Given the description of an element on the screen output the (x, y) to click on. 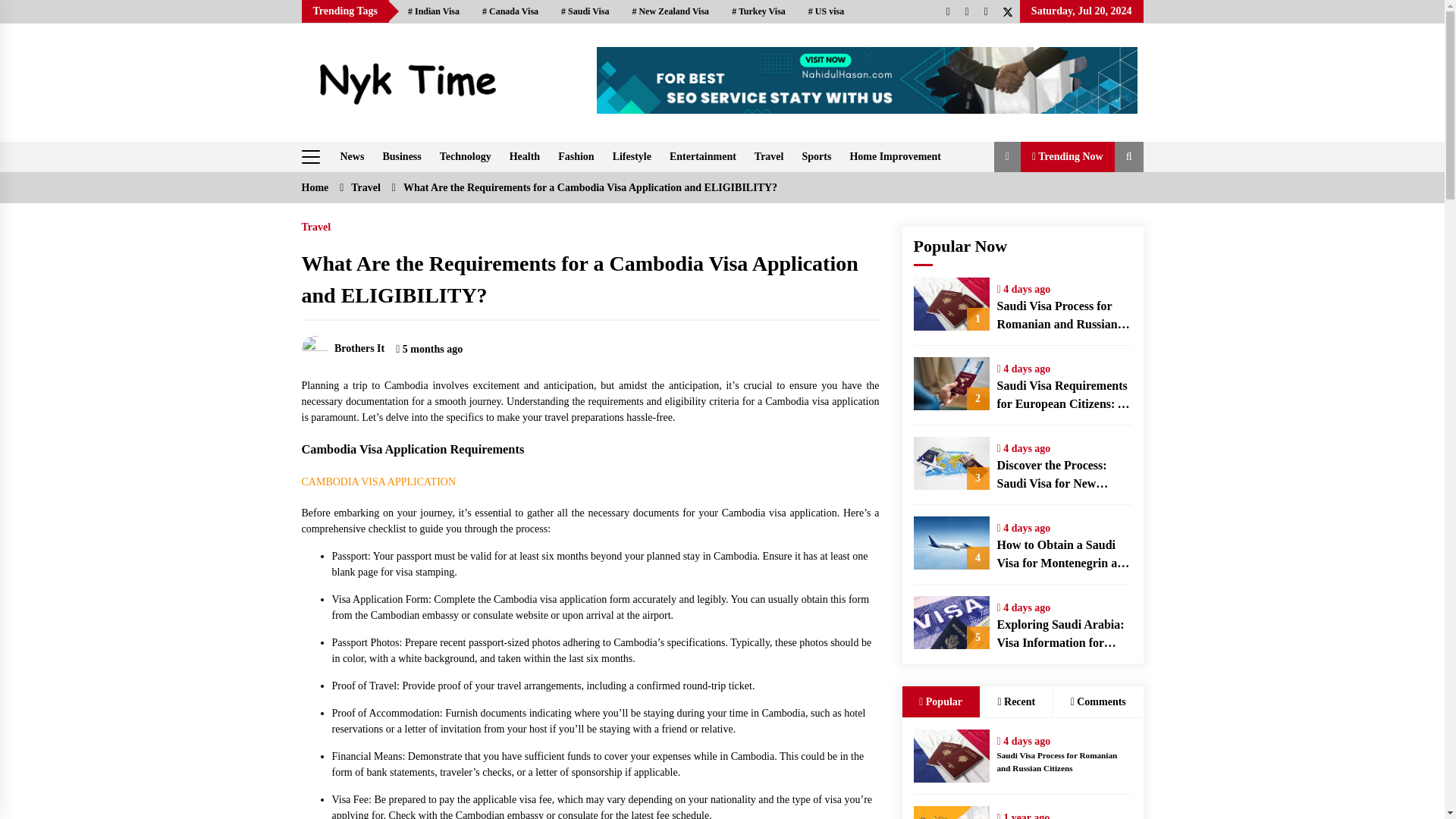
News (351, 156)
Fashion (575, 156)
Lifestyle (632, 156)
Turkey Visa (758, 11)
Business (400, 156)
Technology (465, 156)
Health (524, 156)
Sports (816, 156)
Saudi Visa (585, 11)
New Zealand Visa (670, 11)
Entertainment (703, 156)
Canada Visa (510, 11)
Travel (769, 156)
Indian Visa (433, 11)
Home Improvement (895, 156)
